Given the description of an element on the screen output the (x, y) to click on. 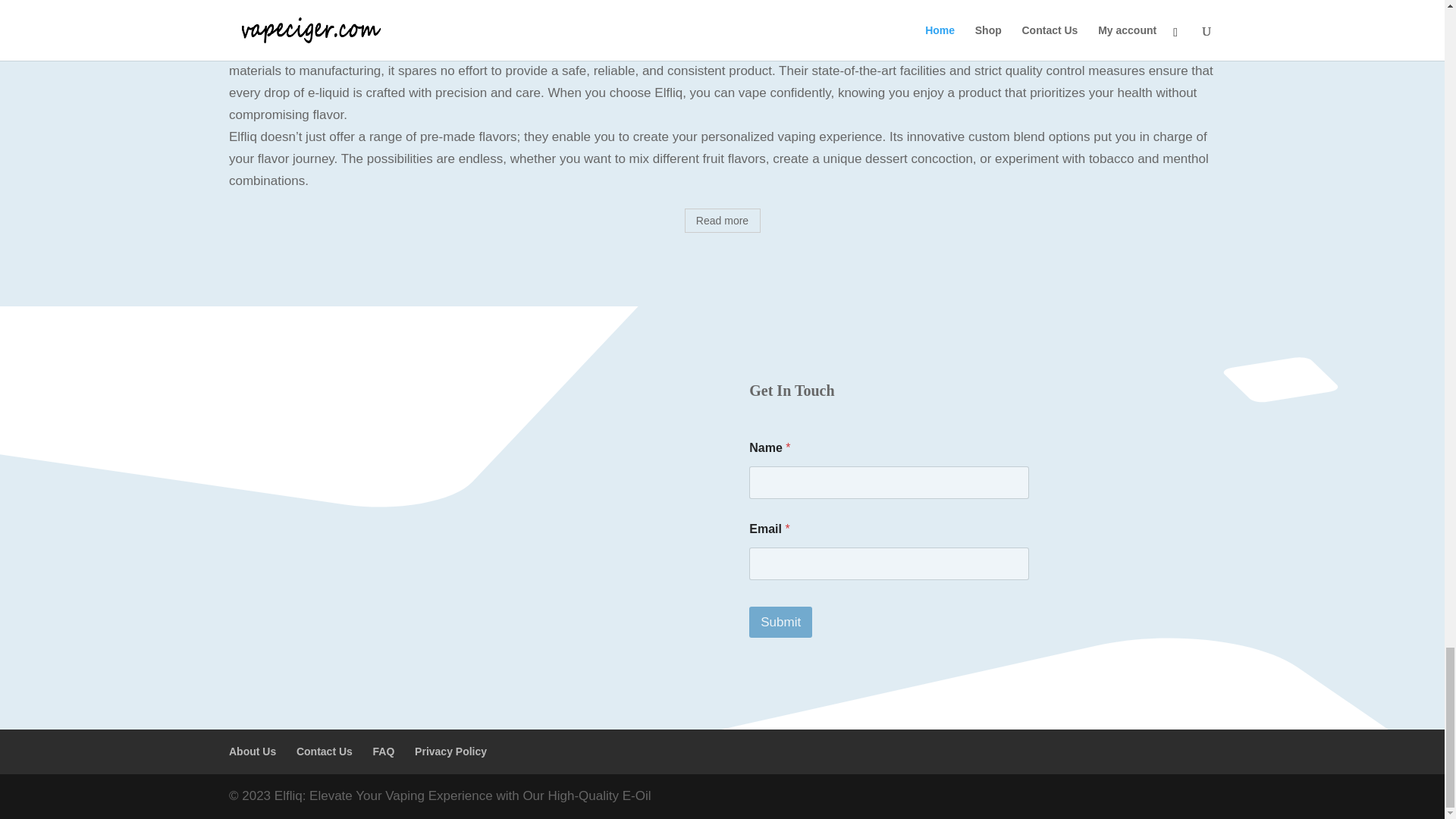
Contact Us (324, 751)
Submit (780, 622)
About Us (252, 751)
Privacy Policy (450, 751)
FAQ (383, 751)
